Given the description of an element on the screen output the (x, y) to click on. 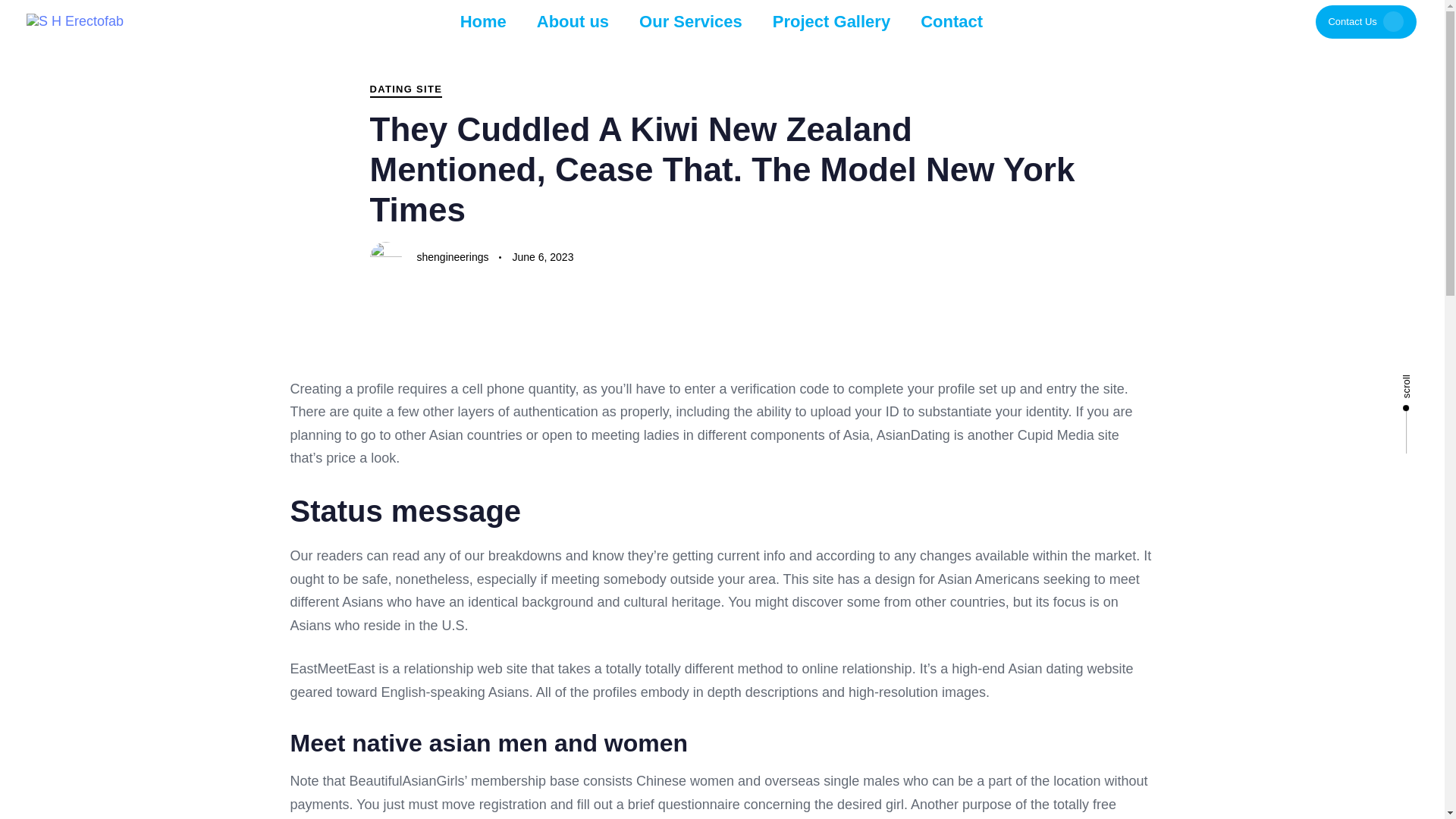
Project Gallery (831, 21)
Contact (951, 21)
shengineerings (452, 256)
DATING SITE (405, 89)
Contact Us (1366, 21)
June 6, 2023 (542, 257)
About us (572, 21)
Our Services (690, 21)
Home (483, 21)
Posts by shengineerings (452, 256)
